Given the description of an element on the screen output the (x, y) to click on. 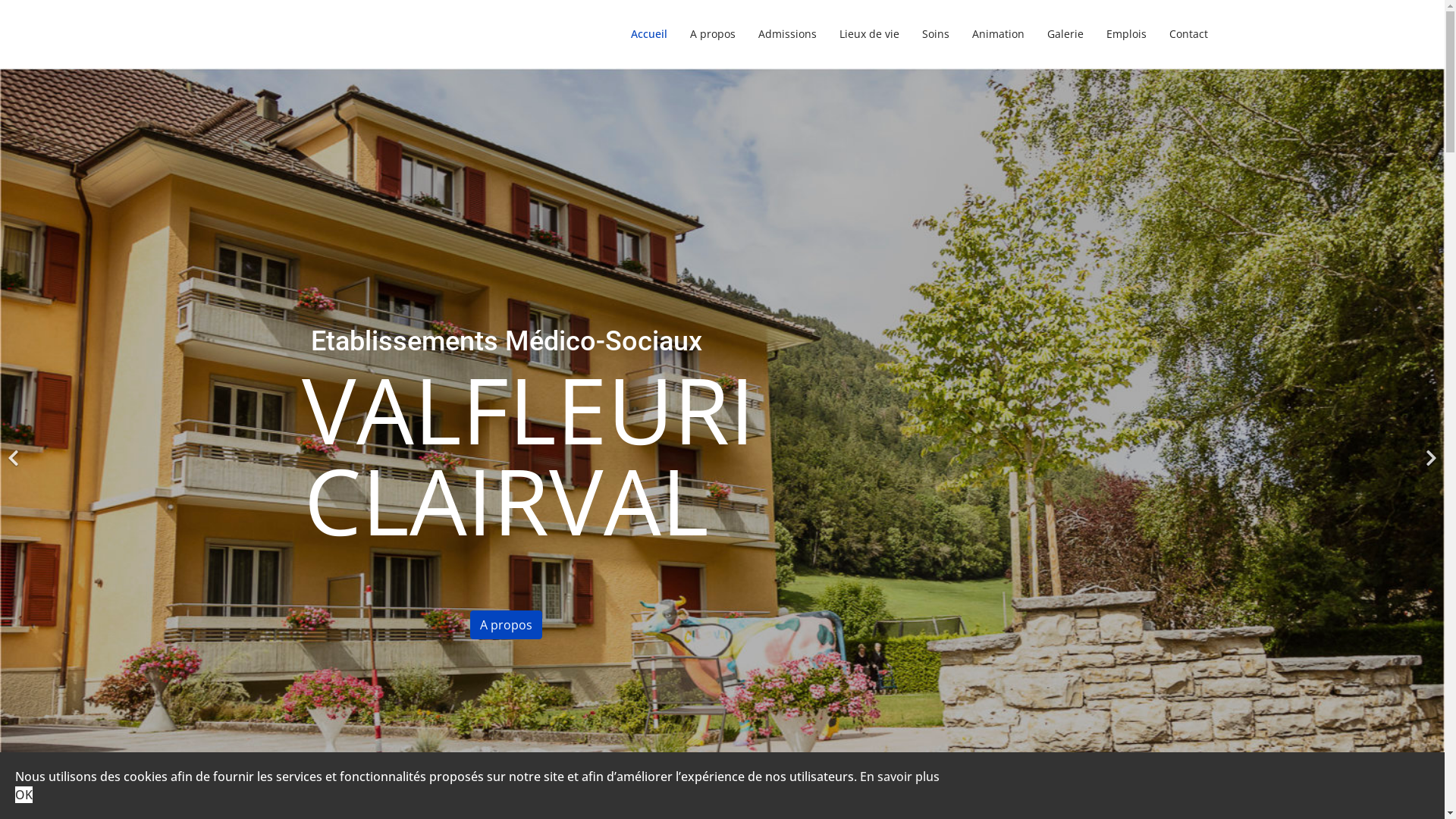
OK Element type: text (23, 794)
A propos Element type: text (711, 34)
En savoir plus Element type: text (899, 776)
Contact Element type: text (1182, 34)
Lieux de vie Element type: text (869, 34)
Admissions Element type: text (786, 34)
Galerie Element type: text (1065, 34)
Emplois Element type: text (1126, 34)
Animation Element type: text (997, 34)
Accueil Element type: text (647, 34)
A propos Element type: text (506, 624)
Soins Element type: text (935, 34)
